Given the description of an element on the screen output the (x, y) to click on. 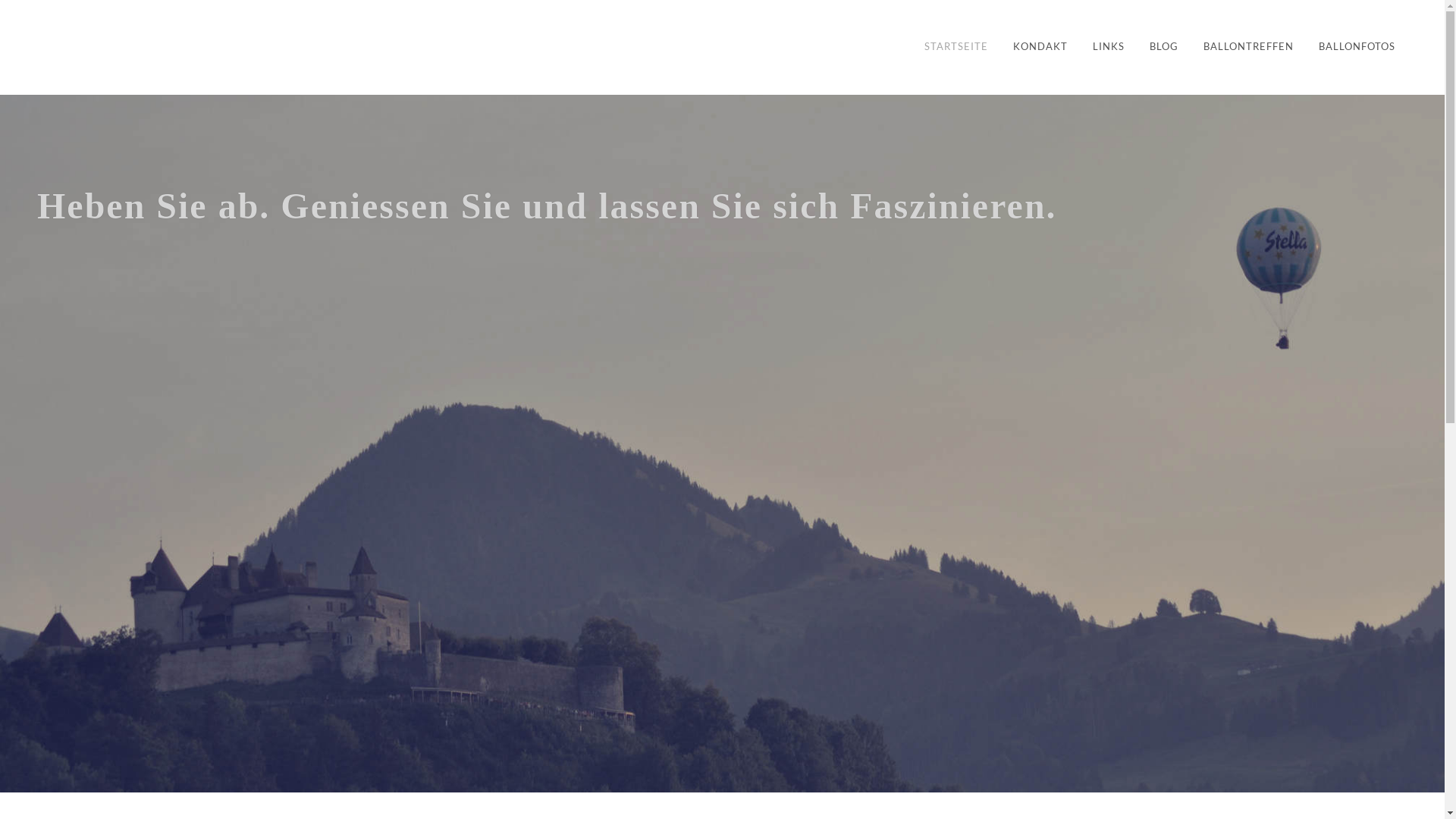
STARTSEITE Element type: text (956, 46)
BALLONTREFFEN Element type: text (1248, 46)
LINKS Element type: text (1108, 46)
BLOG Element type: text (1163, 46)
BALLONFOTOS Element type: text (1356, 46)
KONDAKT Element type: text (1040, 46)
